Given the description of an element on the screen output the (x, y) to click on. 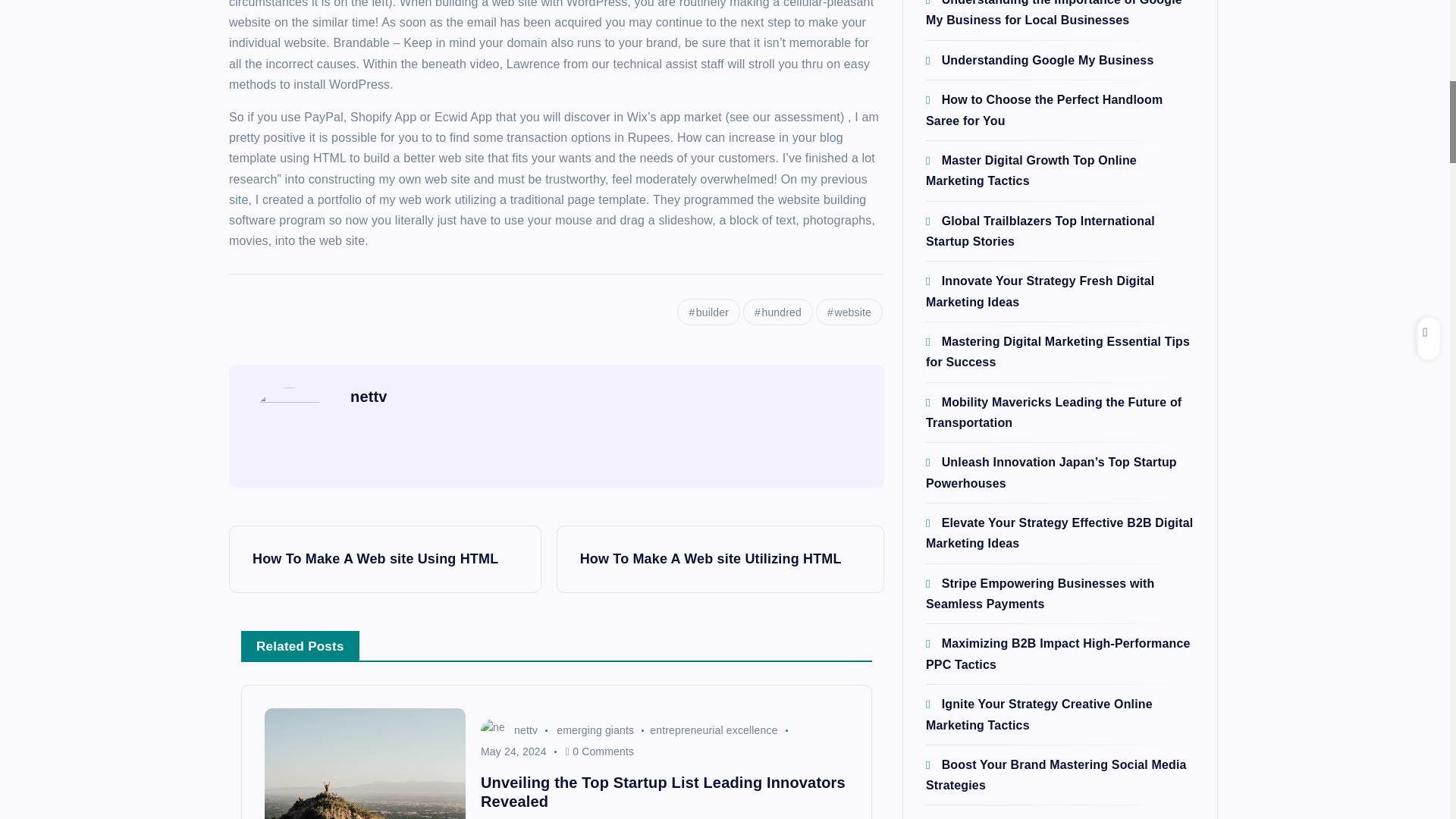
hundred (777, 311)
builder (708, 311)
nettv (368, 396)
entrepreneurial excellence (713, 729)
nettv (508, 729)
How To Make A Web site Utilizing HTML (719, 558)
website (848, 311)
emerging giants (594, 729)
How To Make A Web site Using HTML (384, 558)
